Given the description of an element on the screen output the (x, y) to click on. 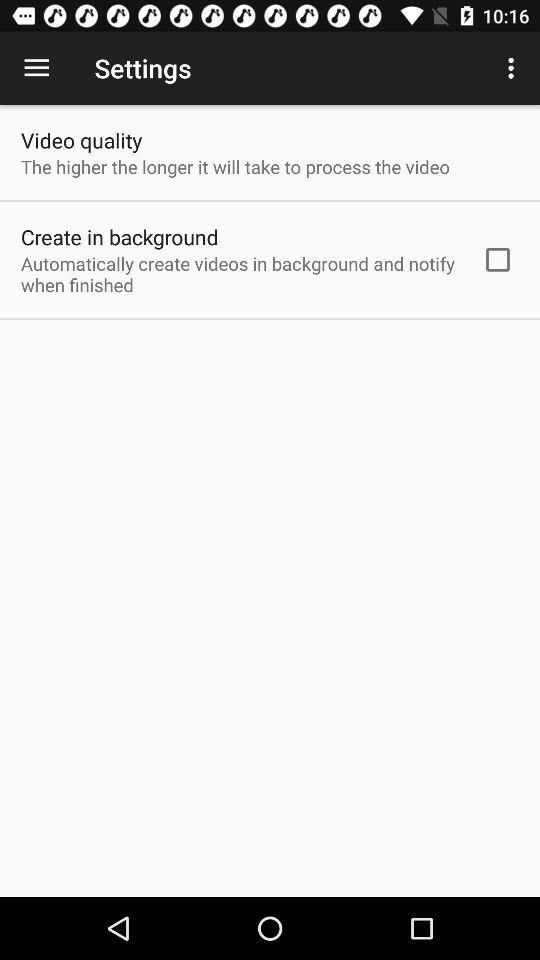
click the icon next to the automatically create videos (497, 259)
